Given the description of an element on the screen output the (x, y) to click on. 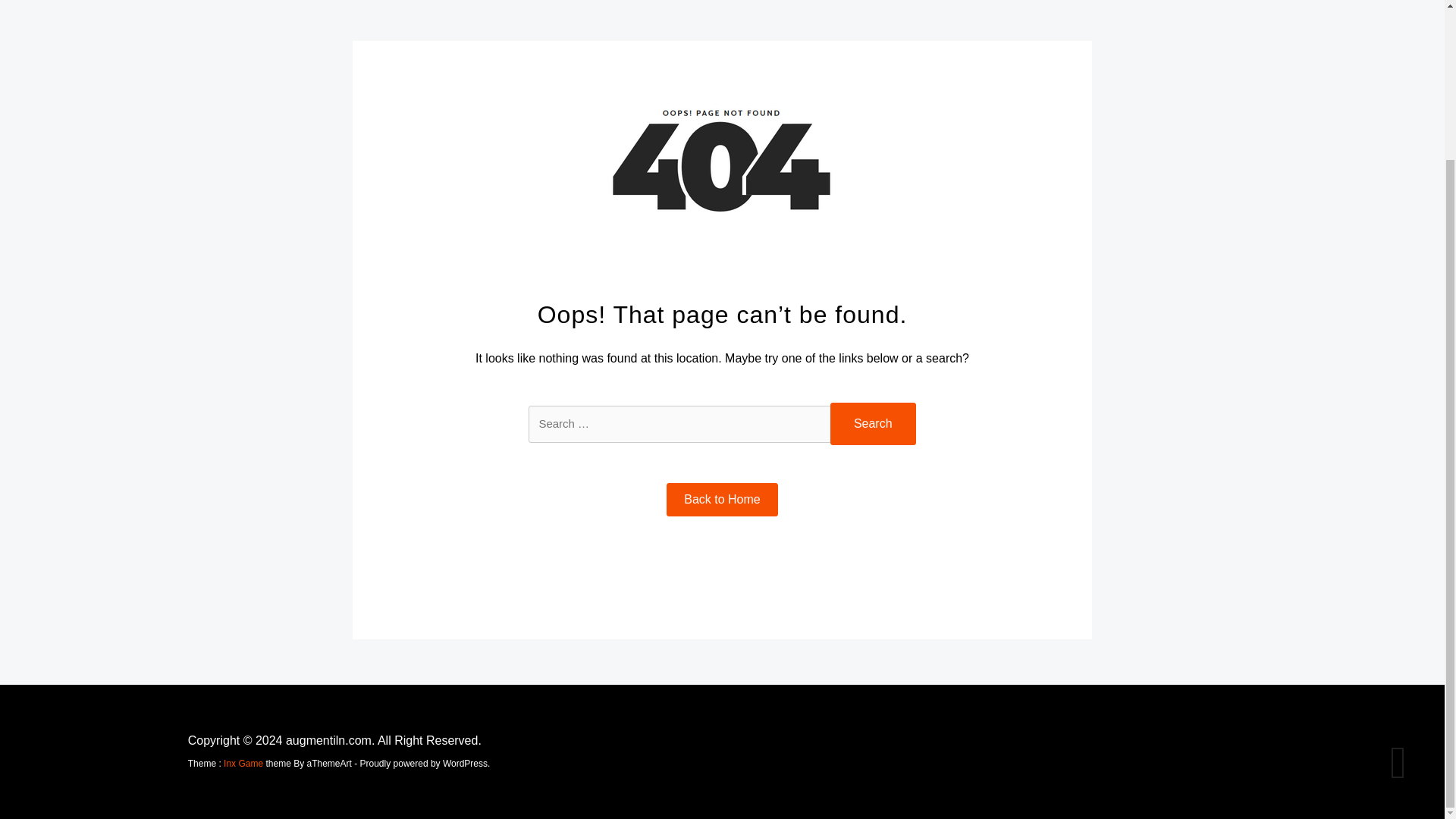
Inx Game (243, 763)
Search (872, 423)
Back to Home (721, 499)
Search (872, 423)
Search (872, 423)
